Given the description of an element on the screen output the (x, y) to click on. 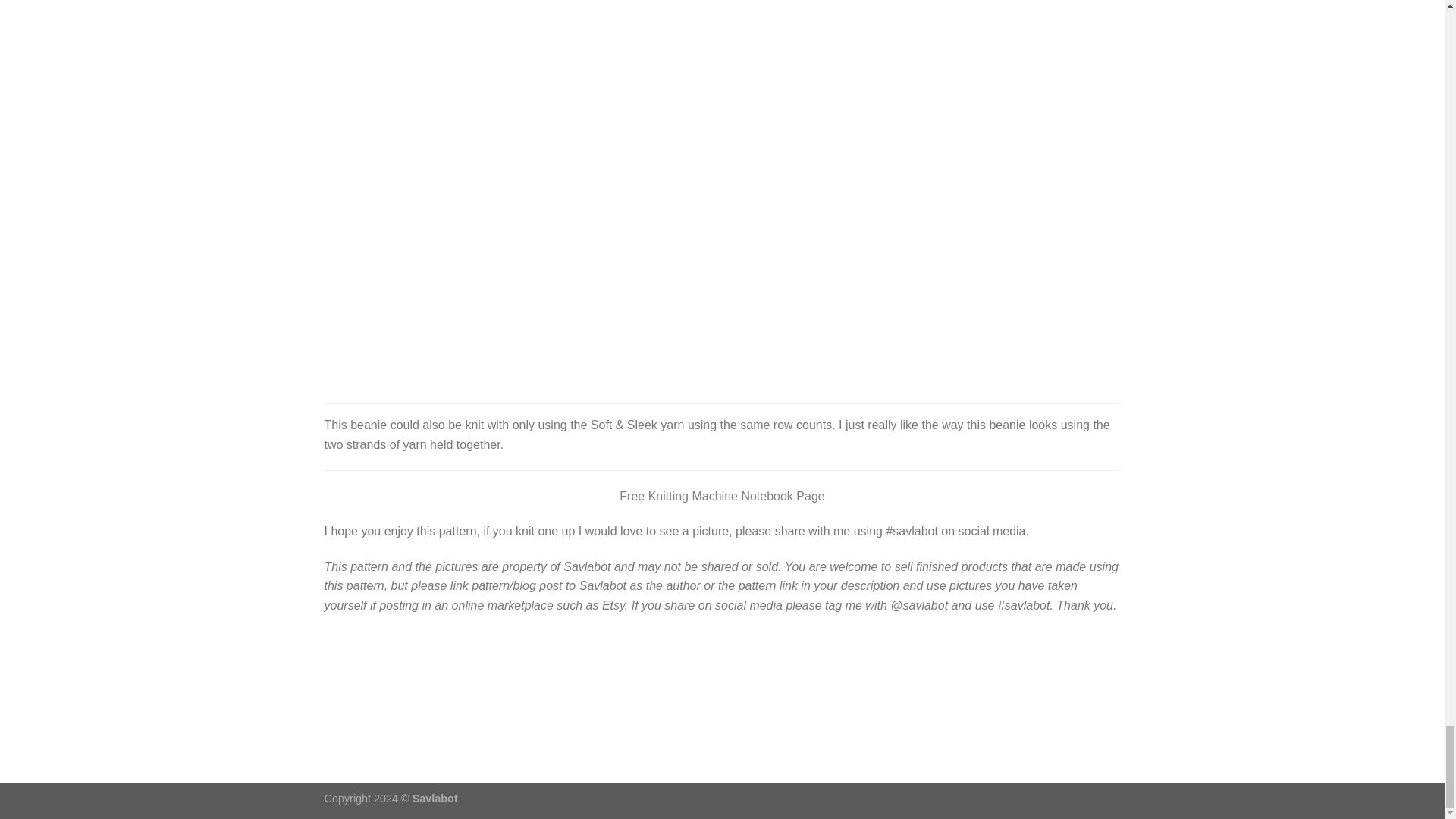
Free Knitting Machine Notebook Page (722, 495)
